Given the description of an element on the screen output the (x, y) to click on. 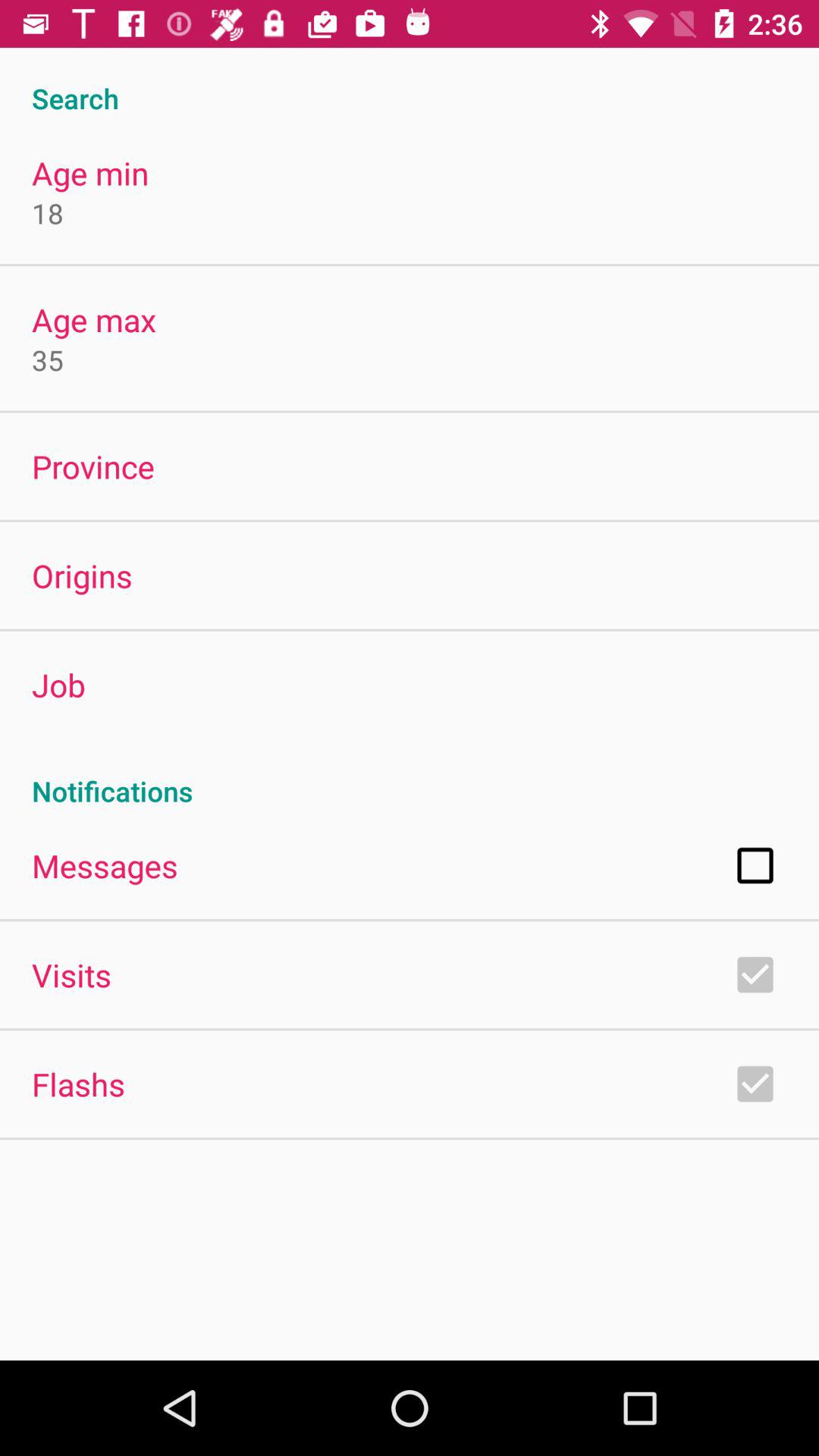
select the 35 icon (47, 359)
